Given the description of an element on the screen output the (x, y) to click on. 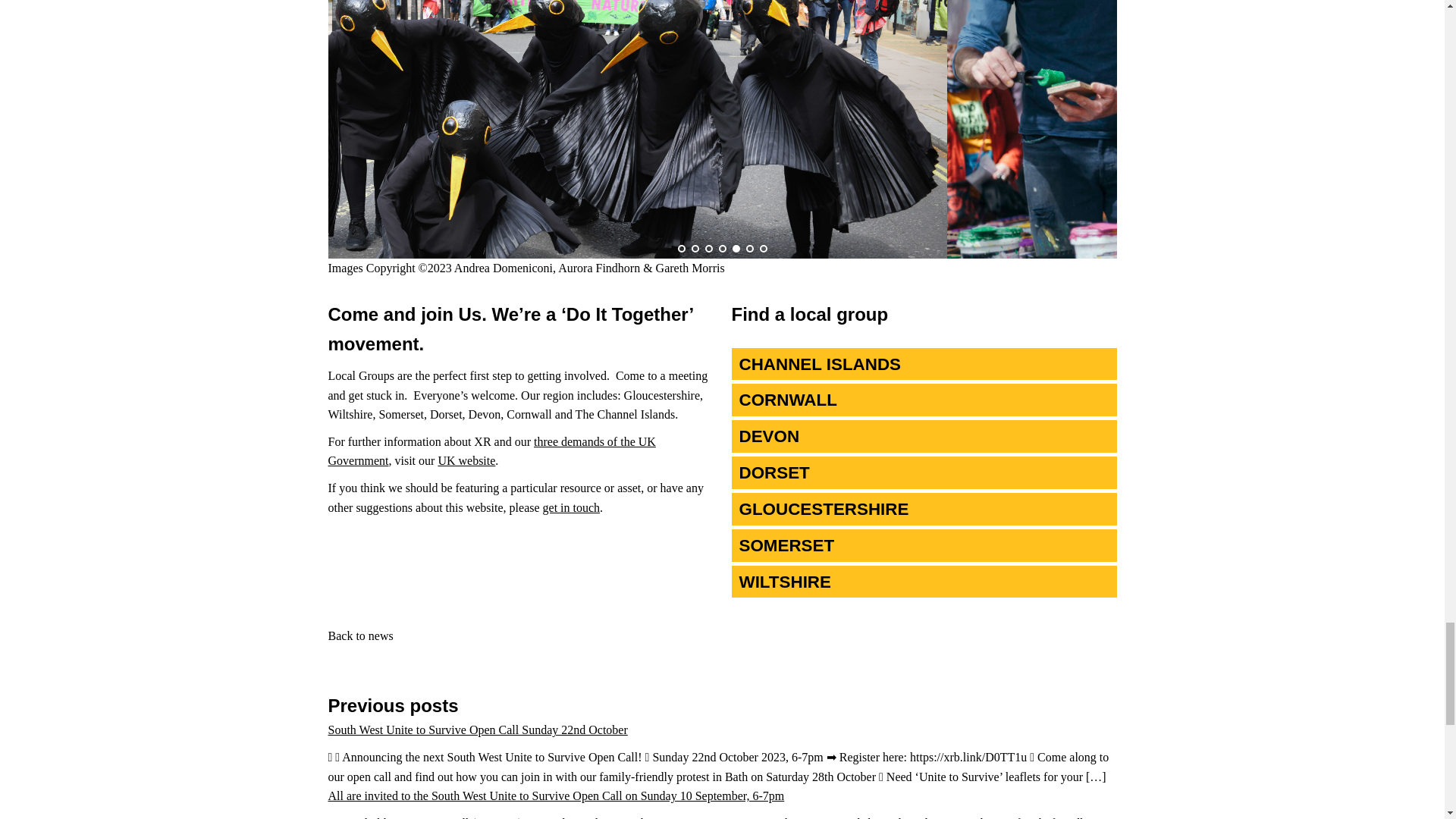
DORSET (923, 472)
UK website (466, 460)
CHANNEL ISLANDS (923, 364)
DEVON (923, 436)
three demands of the UK Government (491, 450)
CORNWALL (923, 400)
get in touch (571, 506)
